Given the description of an element on the screen output the (x, y) to click on. 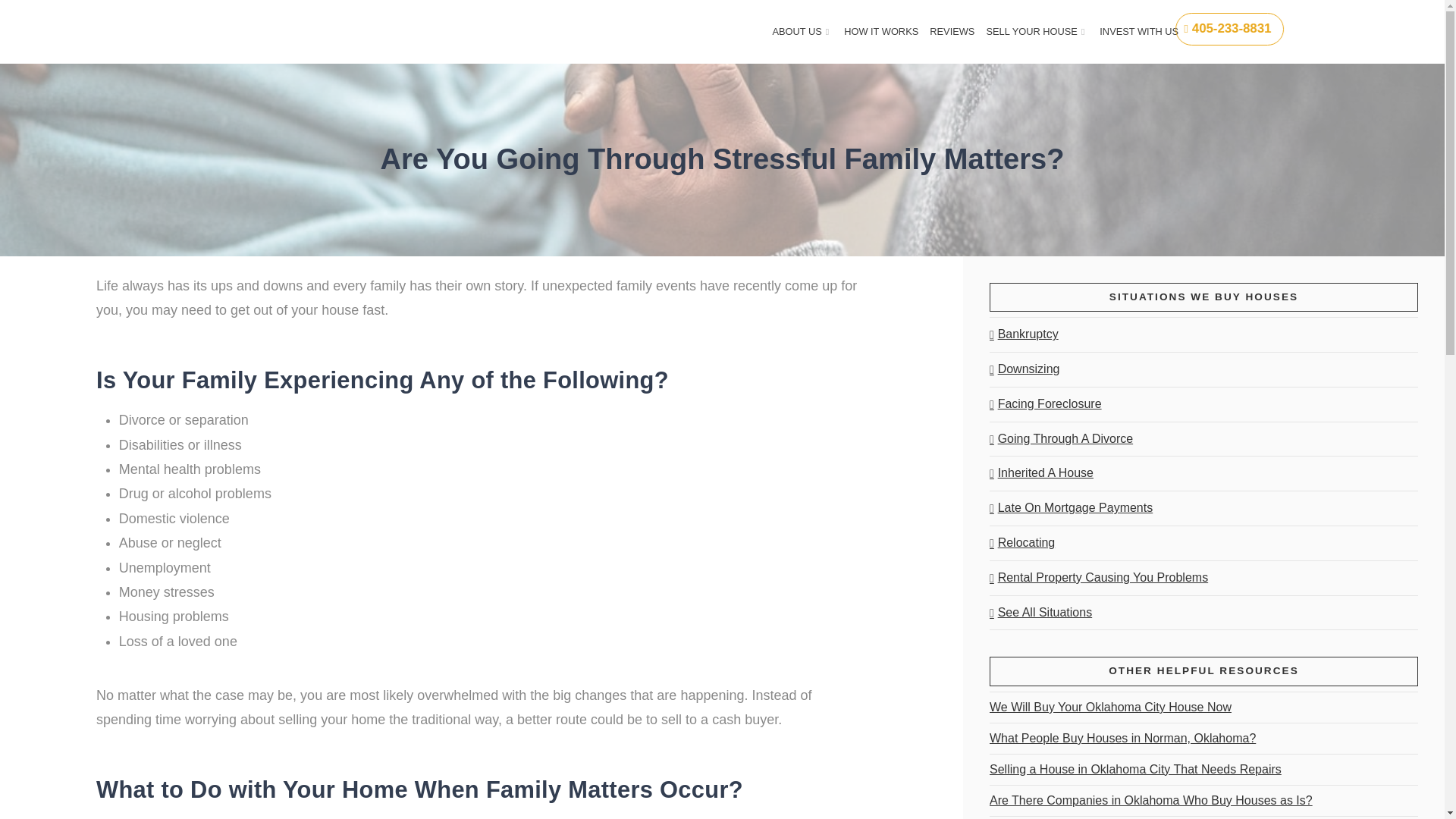
Downsizing (1024, 369)
Late On Mortgage Payments (1071, 508)
Facing Foreclosure (1046, 404)
Going Through A Divorce (1061, 439)
Bankruptcy (1024, 334)
Relocating (1022, 543)
ABOUT US (801, 31)
INVEST WITH US (1137, 31)
HOW IT WORKS (880, 31)
Get My Cash Offer (923, 52)
